Given the description of an element on the screen output the (x, y) to click on. 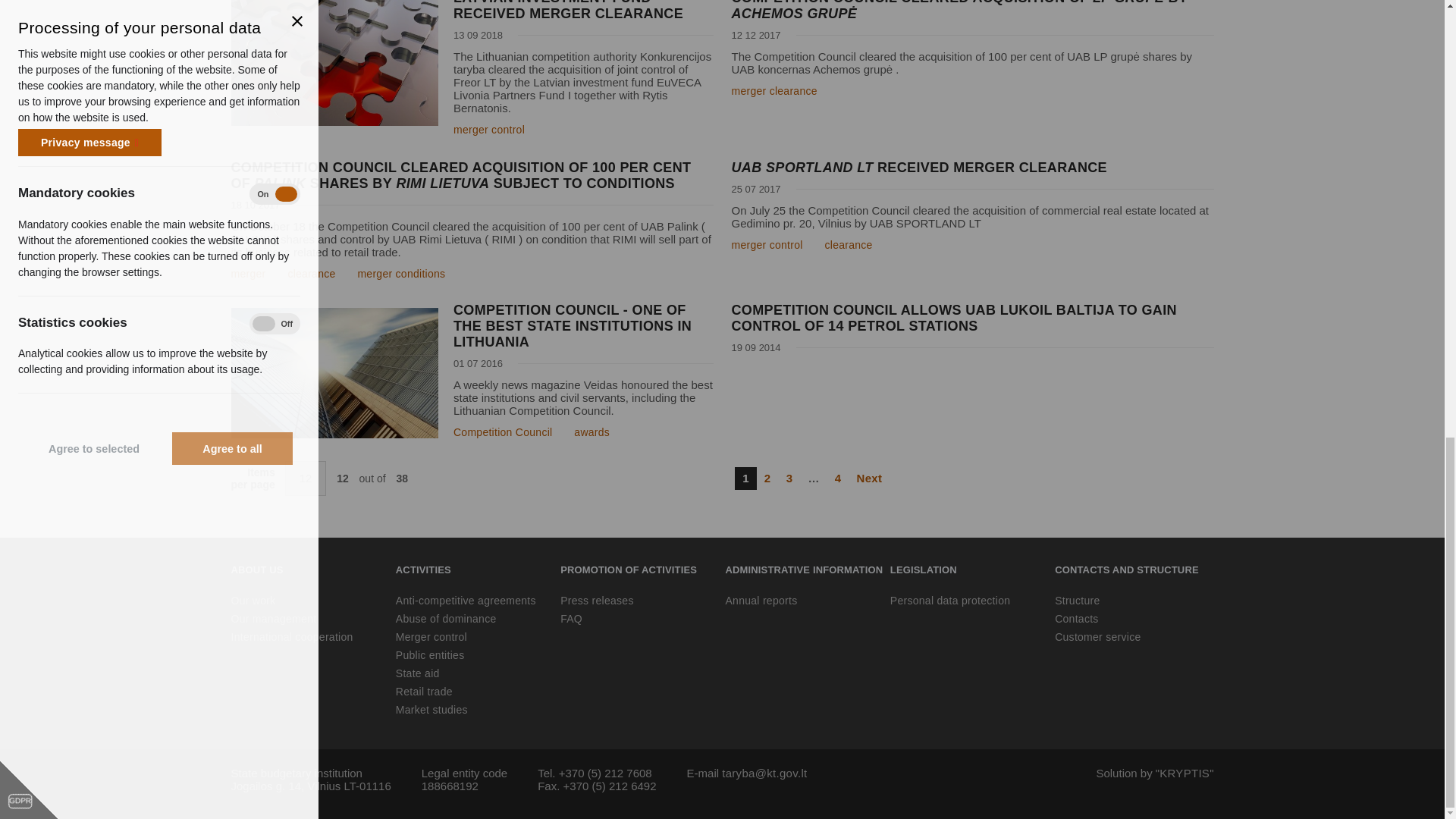
UAB SPORTLAND LT  RECEIVED MERGER CLEARANCE (971, 167)
12 (305, 478)
LATVIAN INVESTMENT FUND RECEIVED MERGER CLEARANCE (471, 11)
